Given the description of an element on the screen output the (x, y) to click on. 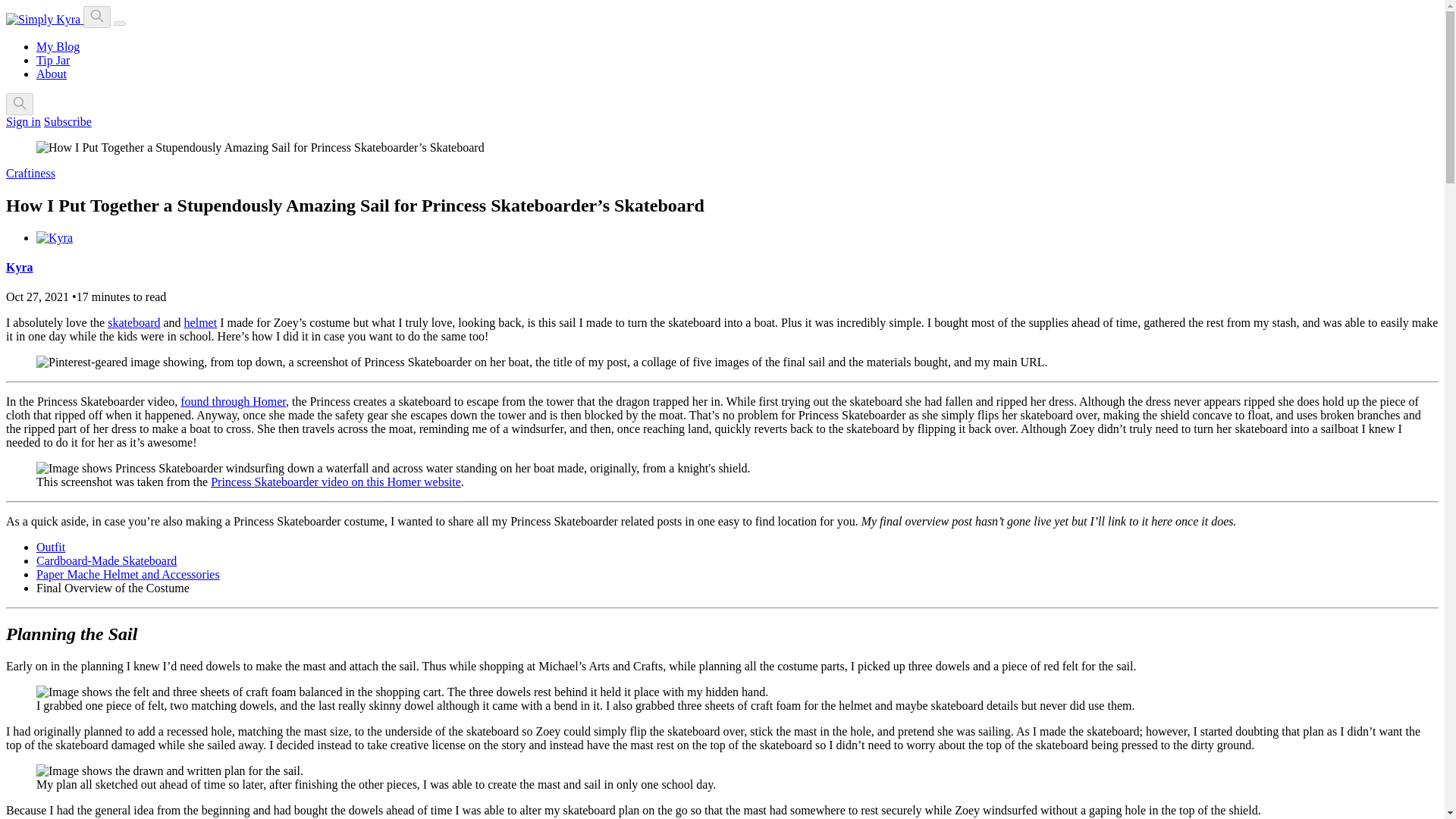
My Blog (58, 46)
Princess Skateboarder video on this Homer website (336, 481)
About (51, 73)
Paper Mache Helmet and Accessories (127, 574)
Subscribe (67, 121)
Cardboard-Made Skateboard (106, 560)
Craftiness (30, 173)
Tip Jar (52, 60)
found through Homer (232, 400)
skateboard (133, 322)
Kyra (19, 267)
Sign in (22, 121)
Outfit (50, 546)
helmet (200, 322)
